Given the description of an element on the screen output the (x, y) to click on. 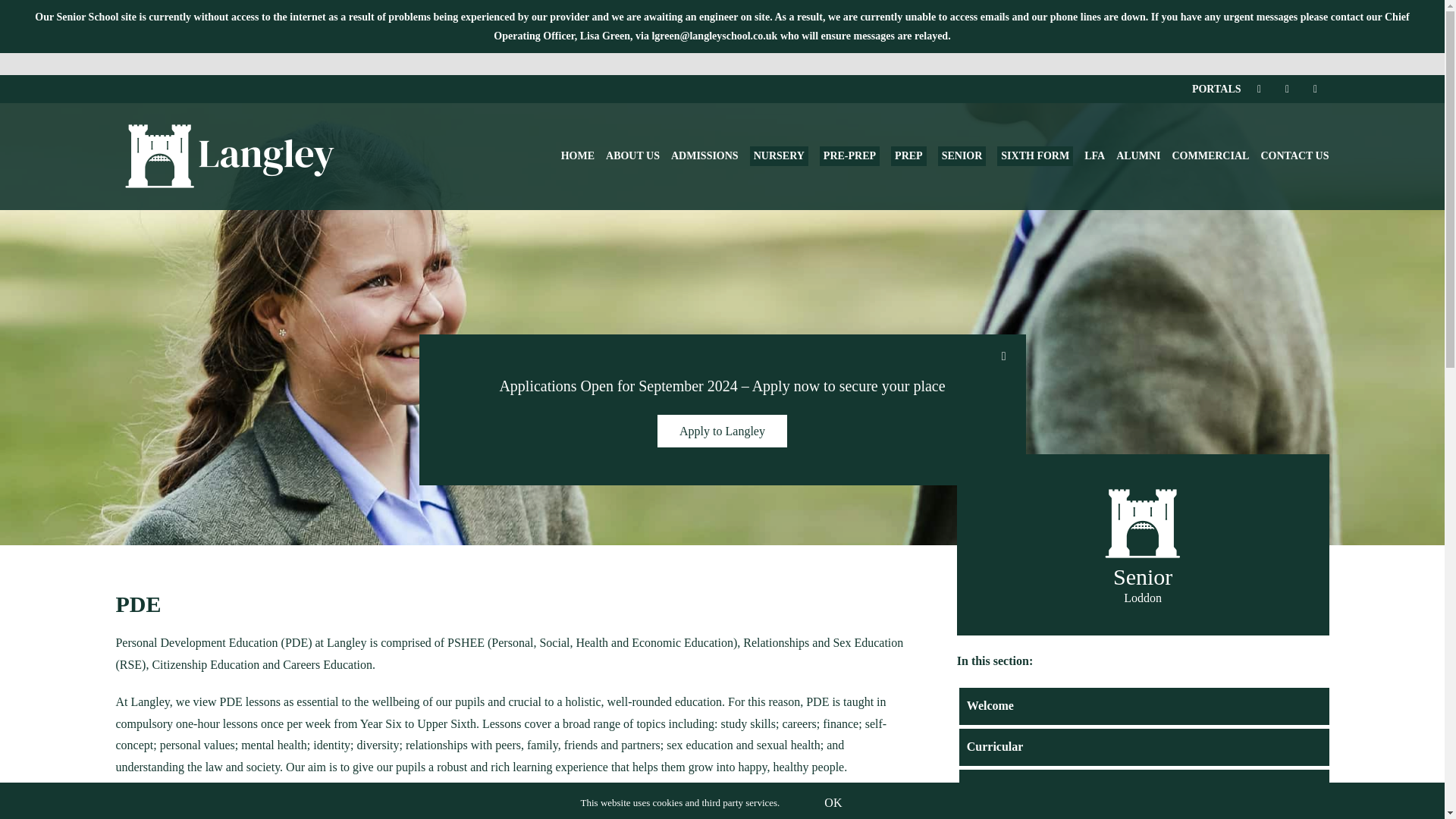
PORTALS (1216, 88)
PDE (1142, 493)
